Given the description of an element on the screen output the (x, y) to click on. 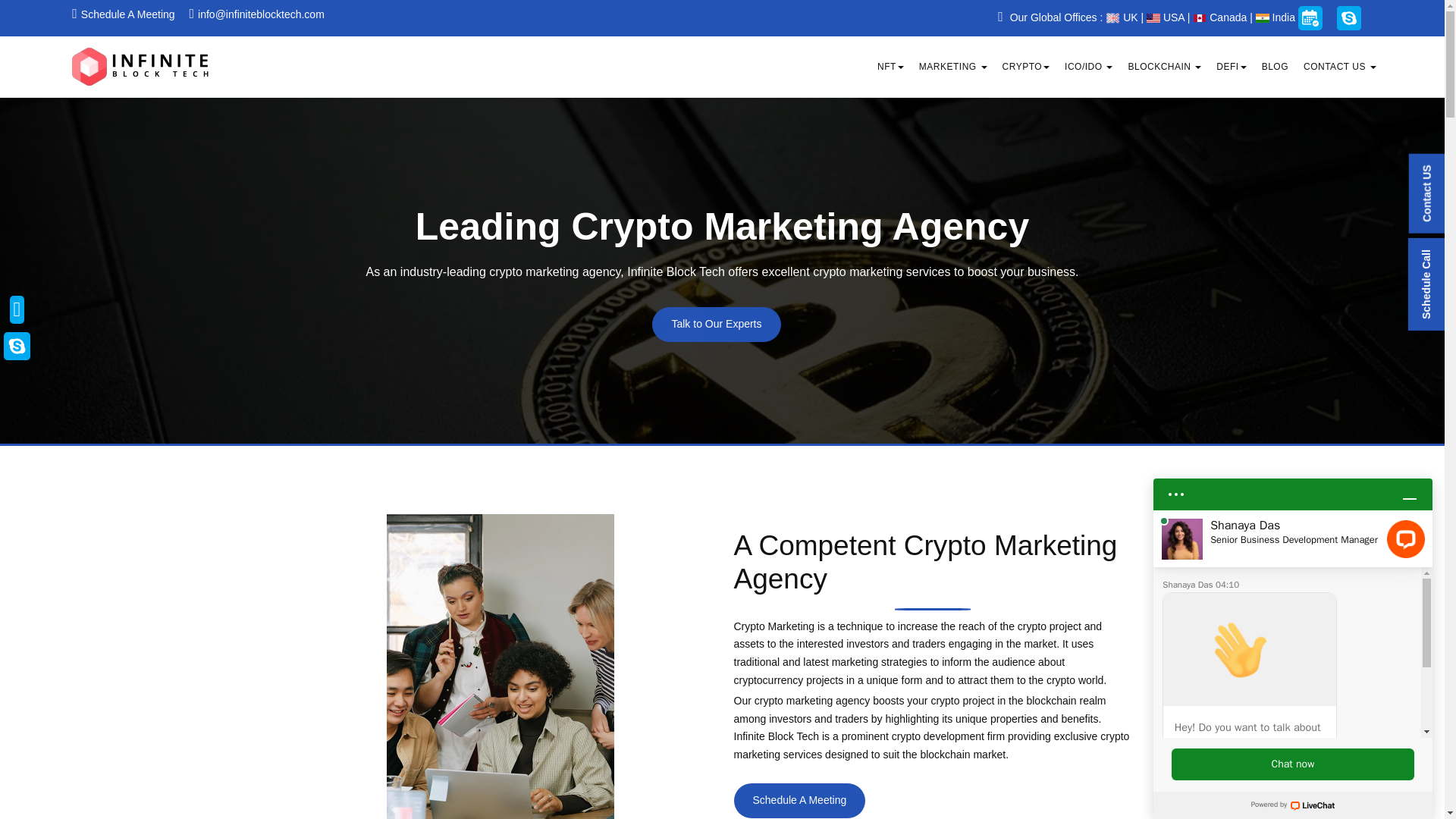
Schedule A Meeting (122, 14)
NFT (890, 66)
MARKETING (952, 66)
Talk to Our Experts (716, 324)
